Given the description of an element on the screen output the (x, y) to click on. 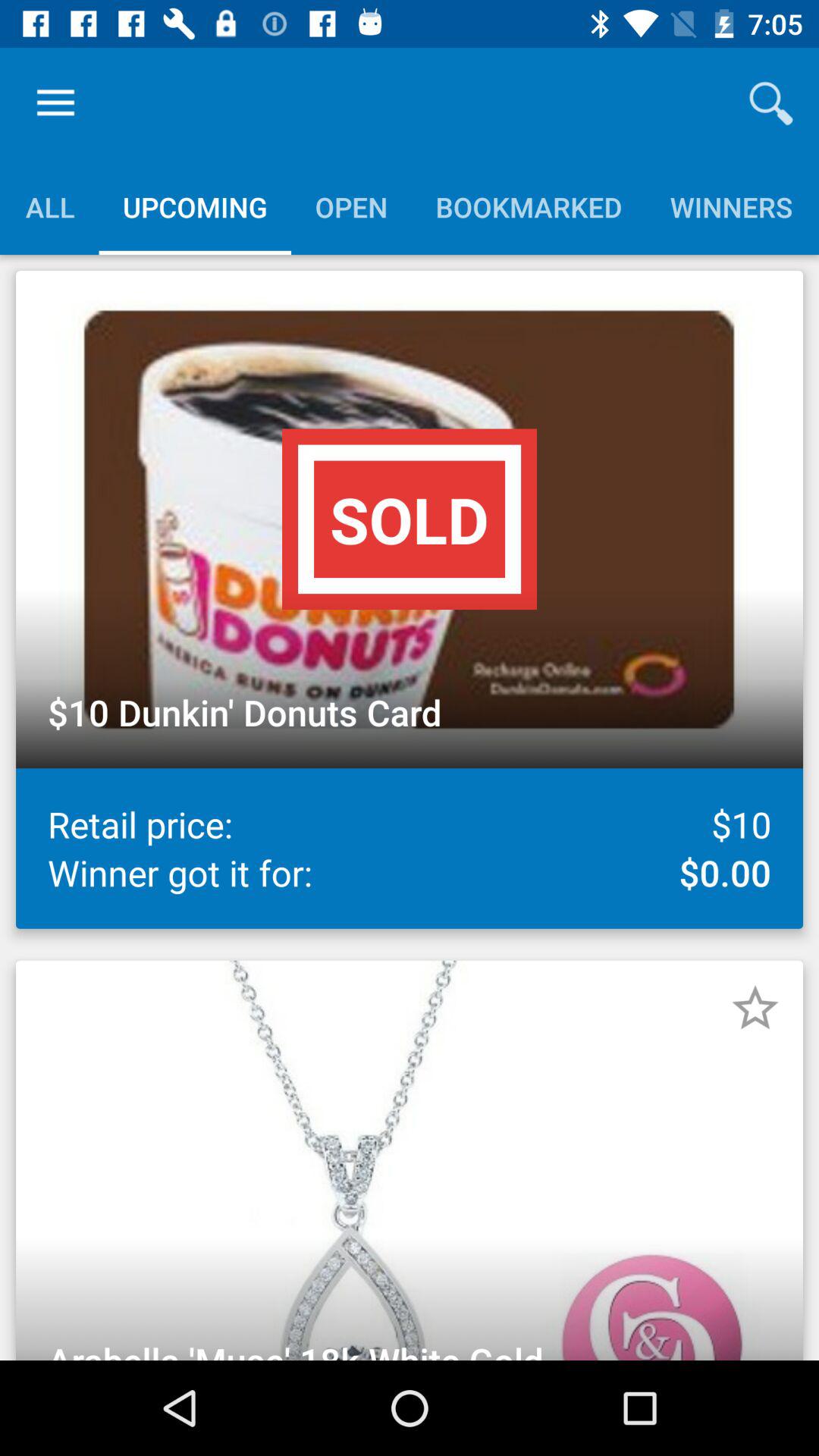
click icon above all icon (55, 103)
